Given the description of an element on the screen output the (x, y) to click on. 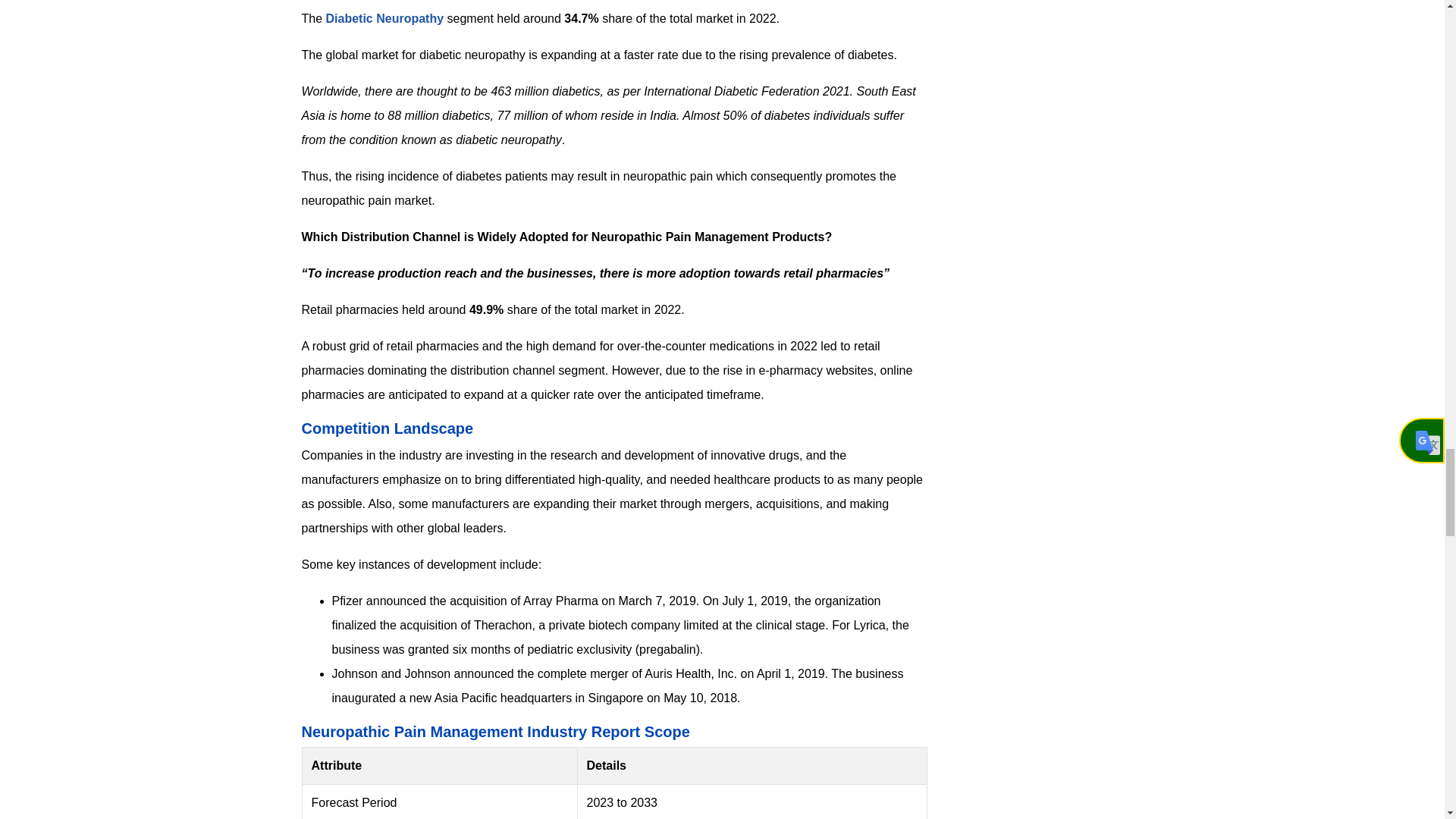
Diabetic Neuropathy (385, 18)
